Given the description of an element on the screen output the (x, y) to click on. 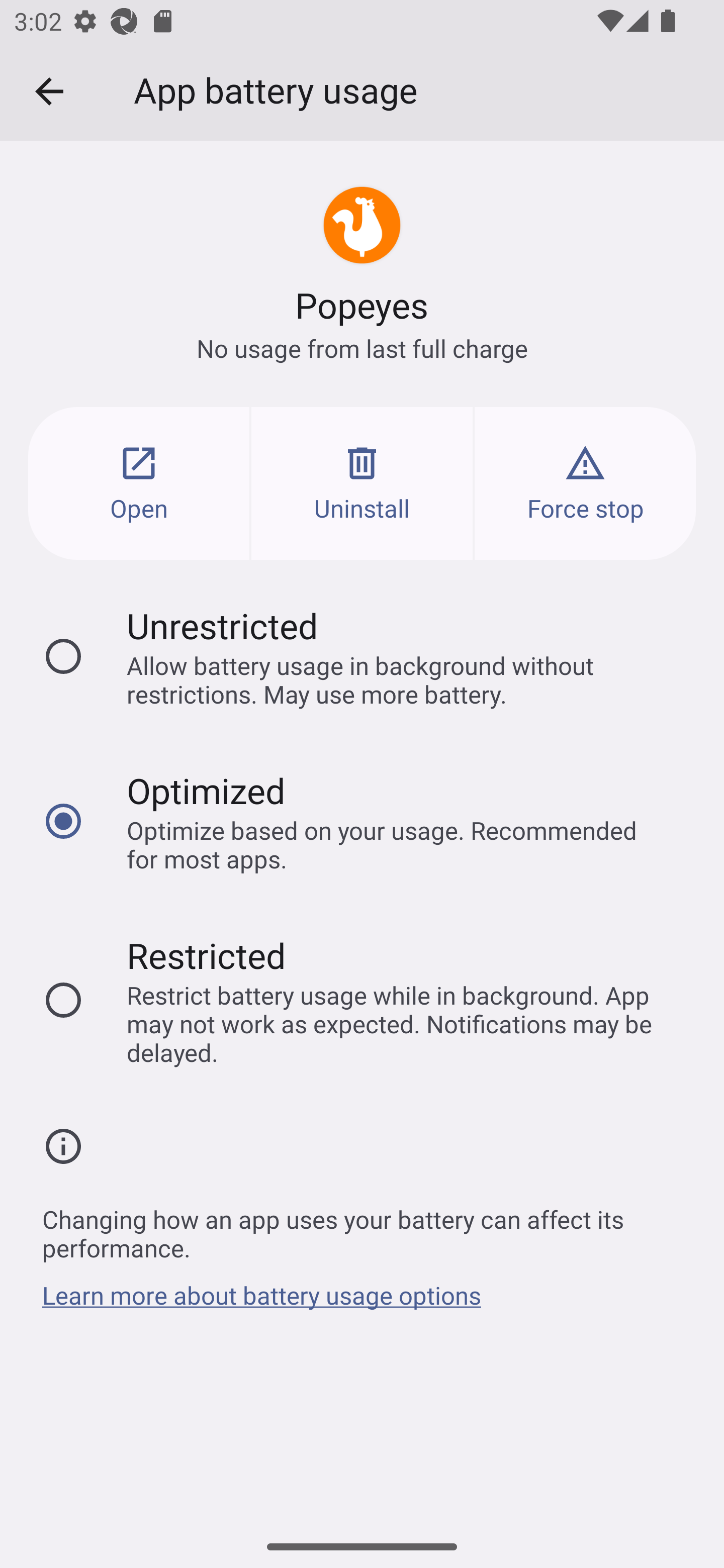
Navigate up (49, 91)
Open (138, 483)
Uninstall (361, 483)
Force stop (584, 483)
